Given the description of an element on the screen output the (x, y) to click on. 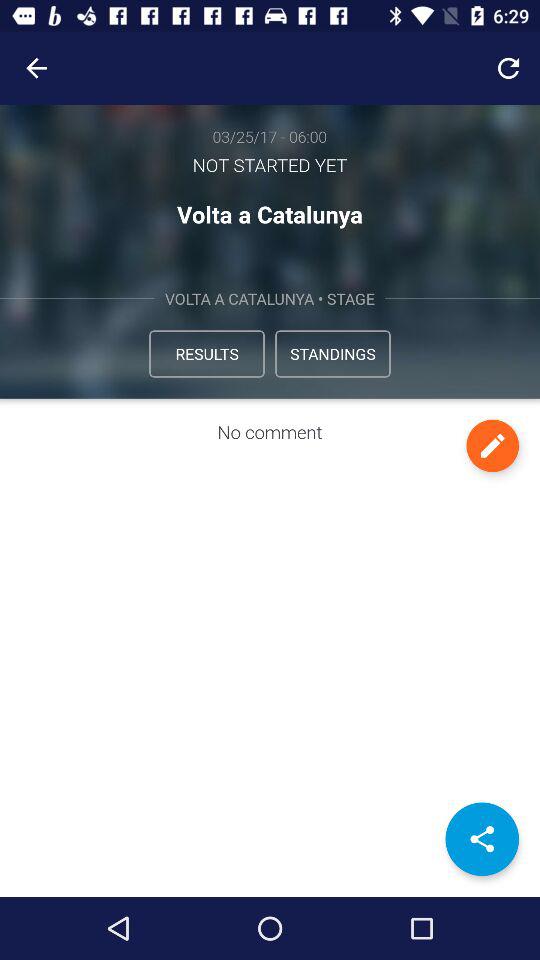
add comment (492, 445)
